Given the description of an element on the screen output the (x, y) to click on. 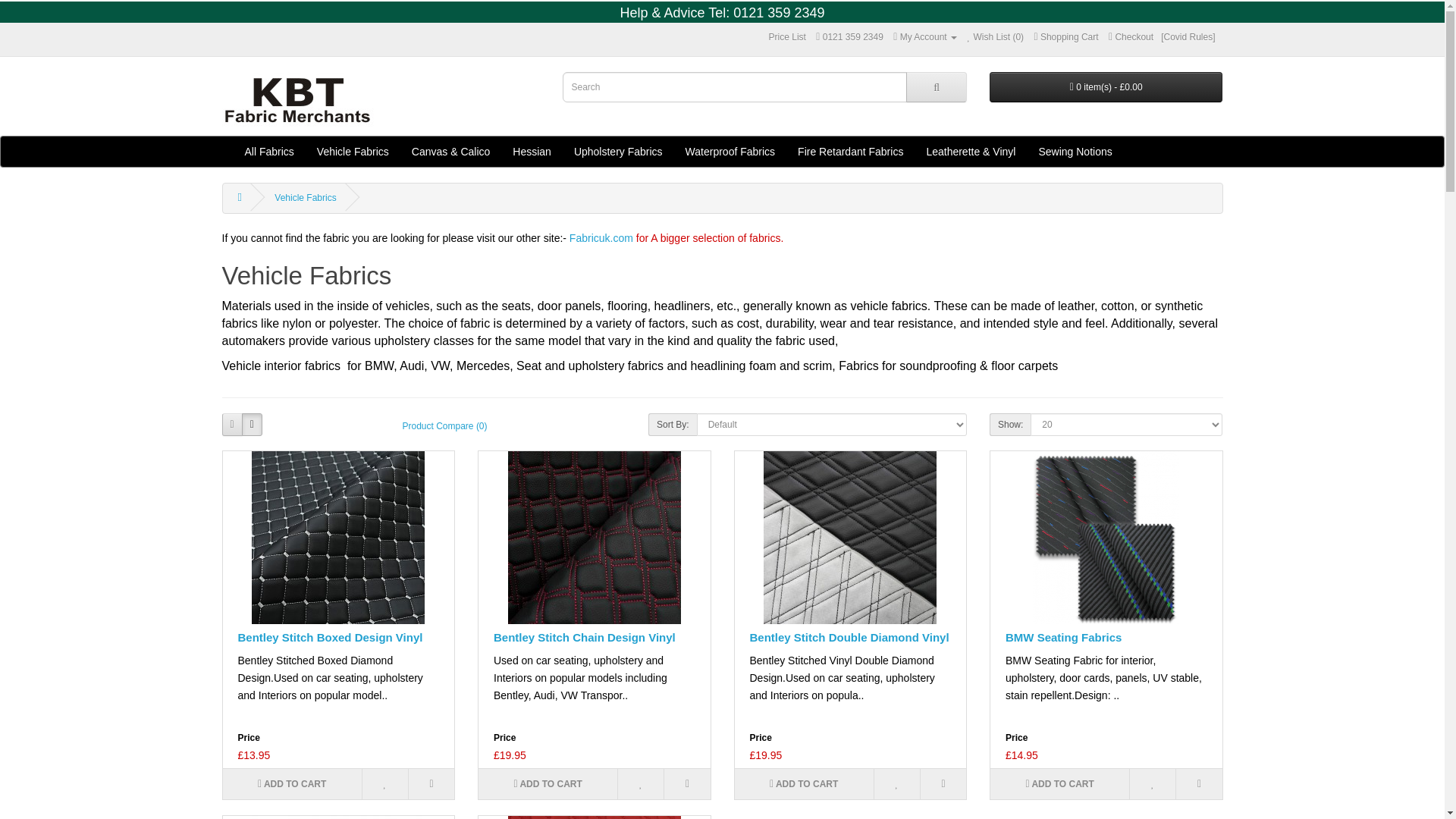
All Fabrics (268, 151)
My Account (924, 36)
Car Roof  Lining Fabric Foam Backed (338, 817)
BMW Seating Fabrics (1106, 537)
Price List (787, 36)
Bentley Stitch Boxed Design Vinyl (338, 537)
Checkout (1130, 36)
Shopping Cart (1065, 36)
Checkout (1130, 36)
Bentley Stitch Chain Design Vinyl (594, 537)
My Account (924, 36)
Shopping Cart (1065, 36)
Bentley Stitch Double Diamond Vinyl (849, 537)
